Given the description of an element on the screen output the (x, y) to click on. 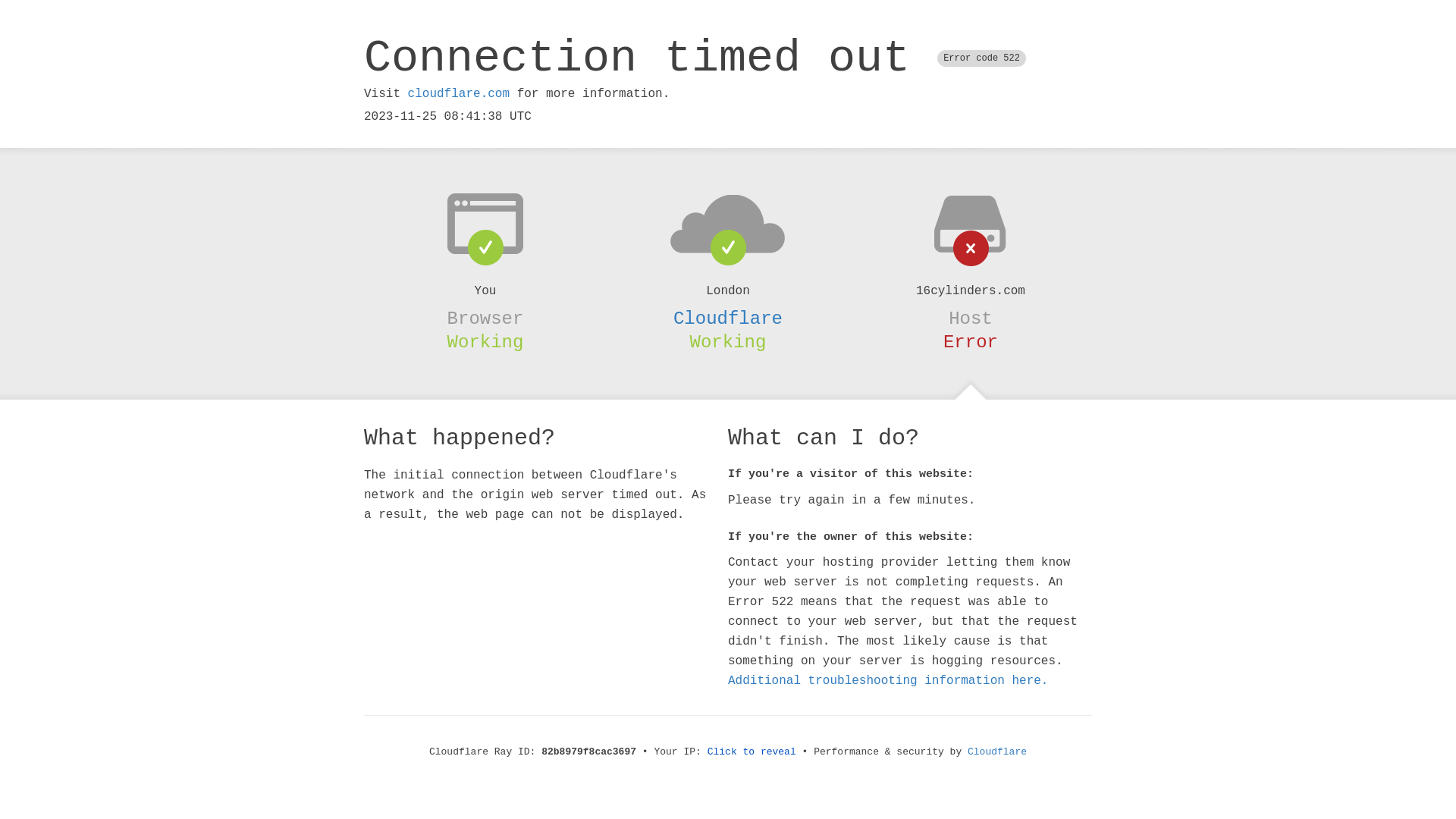
Cloudflare Element type: text (996, 751)
Cloudflare Element type: text (727, 318)
Additional troubleshooting information here. Element type: text (888, 680)
cloudflare.com Element type: text (458, 93)
Click to reveal Element type: text (751, 751)
